Given the description of an element on the screen output the (x, y) to click on. 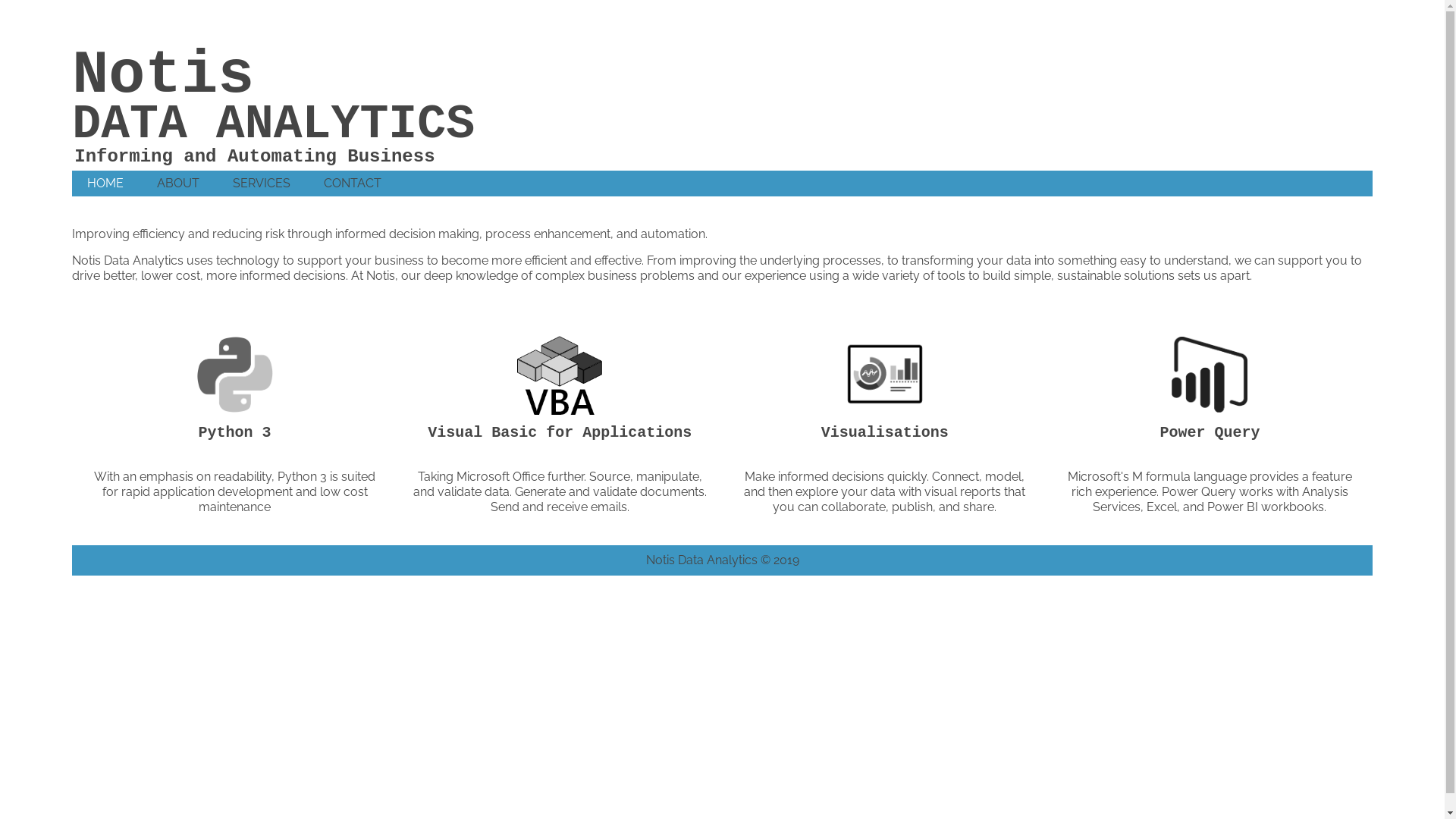
SERVICES Element type: text (261, 182)
CONTACT Element type: text (352, 182)
ABOUT Element type: text (177, 182)
HOME Element type: text (105, 182)
